Given the description of an element on the screen output the (x, y) to click on. 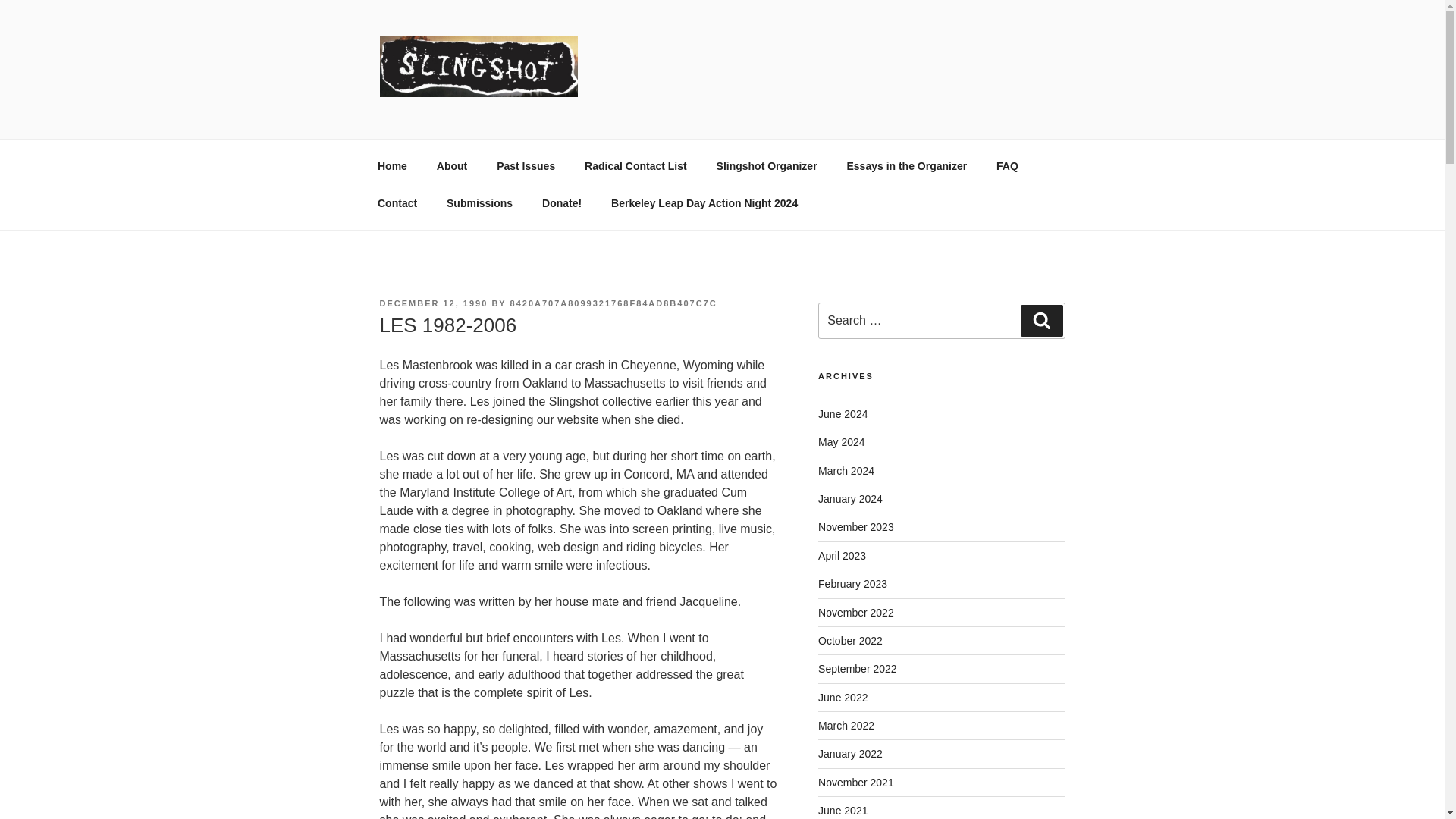
September 2022 (857, 668)
November 2021 (855, 782)
November 2023 (855, 526)
March 2024 (846, 470)
Past Issues (526, 165)
Home (392, 165)
January 2024 (850, 499)
March 2022 (846, 725)
February 2023 (852, 583)
Submissions (479, 203)
